Given the description of an element on the screen output the (x, y) to click on. 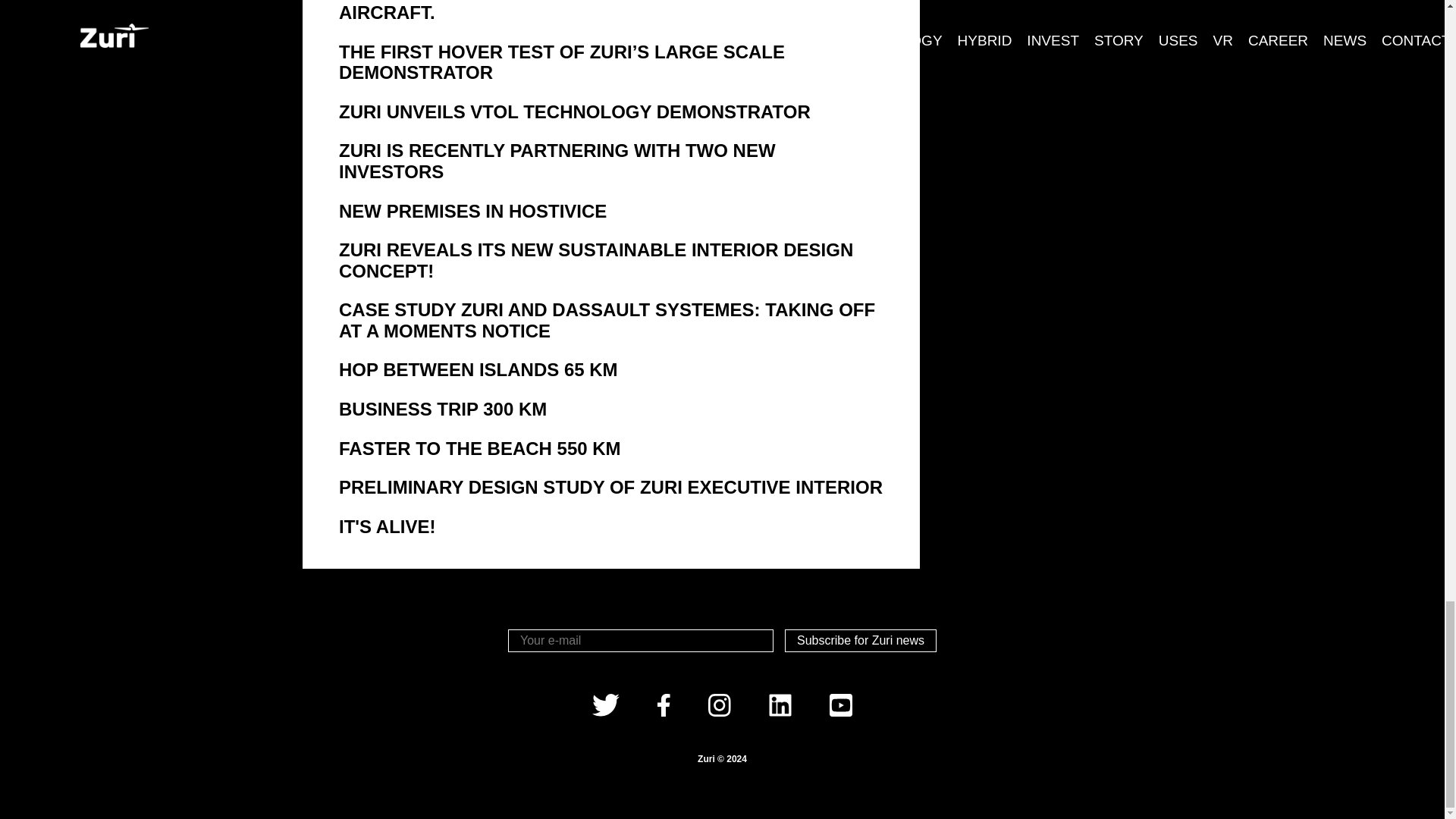
FASTER TO THE BEACH 550 KM (611, 448)
ZURI IS RECENTLY PARTNERING WITH TWO NEW INVESTORS (611, 160)
PRELIMINARY DESIGN STUDY OF ZURI EXECUTIVE INTERIOR (611, 486)
IT'S ALIVE! (611, 526)
HOP BETWEEN ISLANDS 65 KM (611, 369)
NEW PREMISES IN HOSTIVICE (611, 210)
ZURI REVEALS ITS NEW SUSTAINABLE INTERIOR DESIGN CONCEPT! (611, 260)
ZURI UNVEILS VTOL TECHNOLOGY DEMONSTRATOR (611, 111)
ZURI PRESENTS A NEW GENERATION OF ITS HYBRID VTOL AIRCRAFT. (611, 11)
BUSINESS TRIP 300 KM (611, 409)
